Given the description of an element on the screen output the (x, y) to click on. 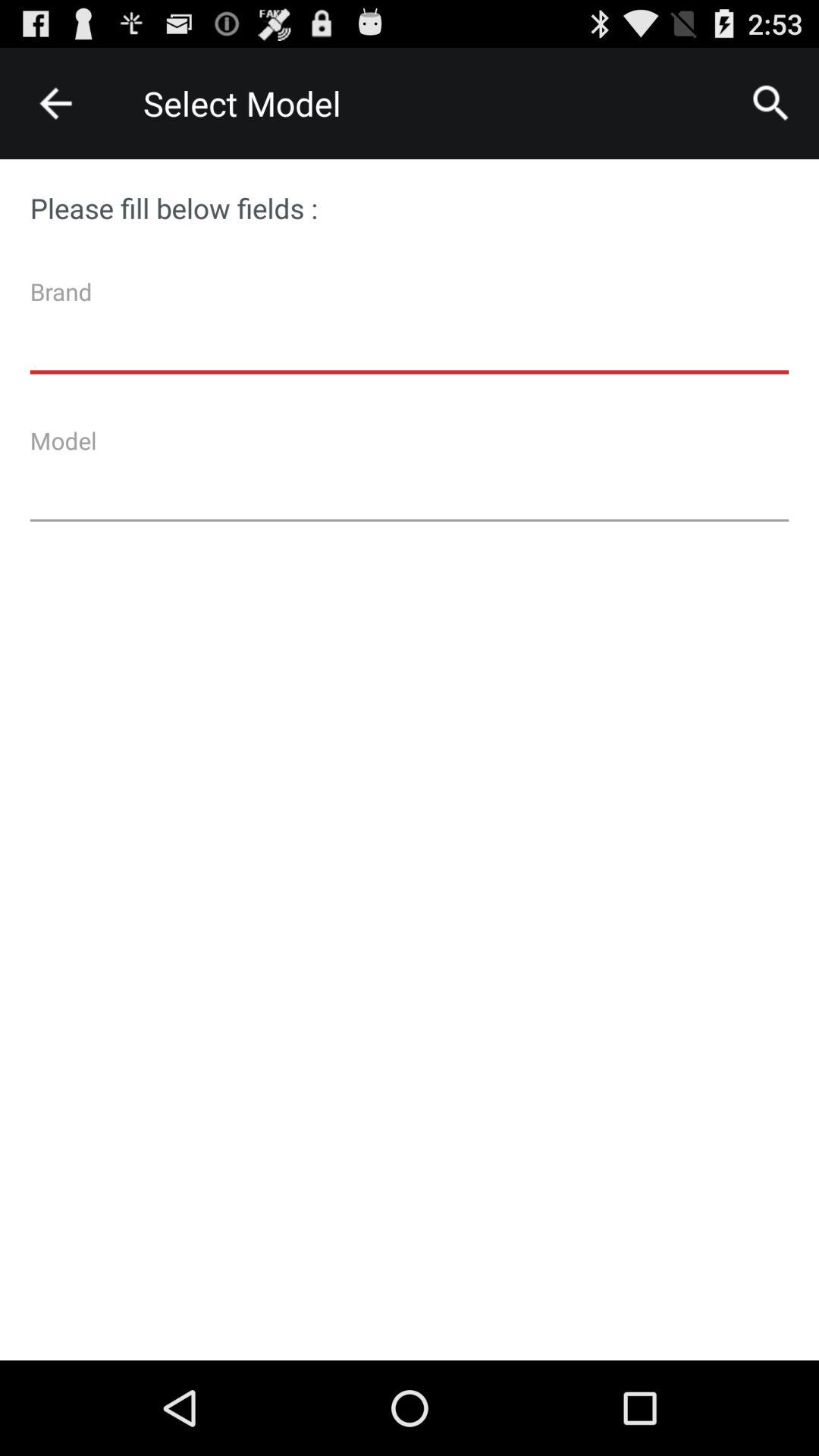
tap item to the right of the select model item (771, 103)
